Given the description of an element on the screen output the (x, y) to click on. 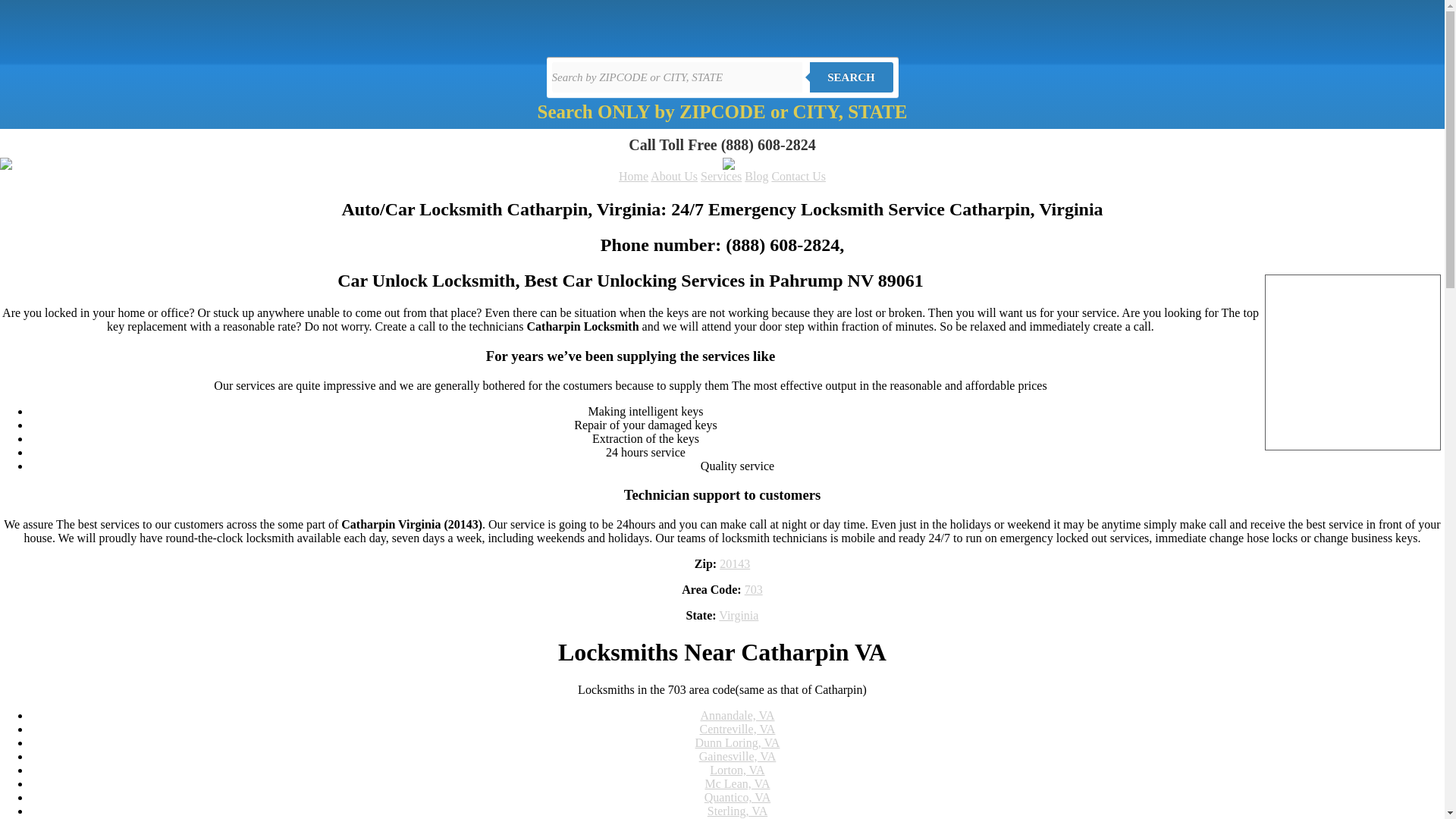
About Us (673, 175)
Services (720, 175)
Lorton, VA (737, 769)
Gainesville, VA (737, 756)
Mc Lean, VA (737, 783)
Annandale, VA (737, 715)
SEARCH (851, 77)
Contact Us (798, 175)
Sterling, VA (737, 810)
Virginia (738, 615)
Home (632, 175)
Centreville, VA (738, 728)
Quantico, VA (737, 797)
Ashburn, VA (738, 818)
Blog (756, 175)
